Given the description of an element on the screen output the (x, y) to click on. 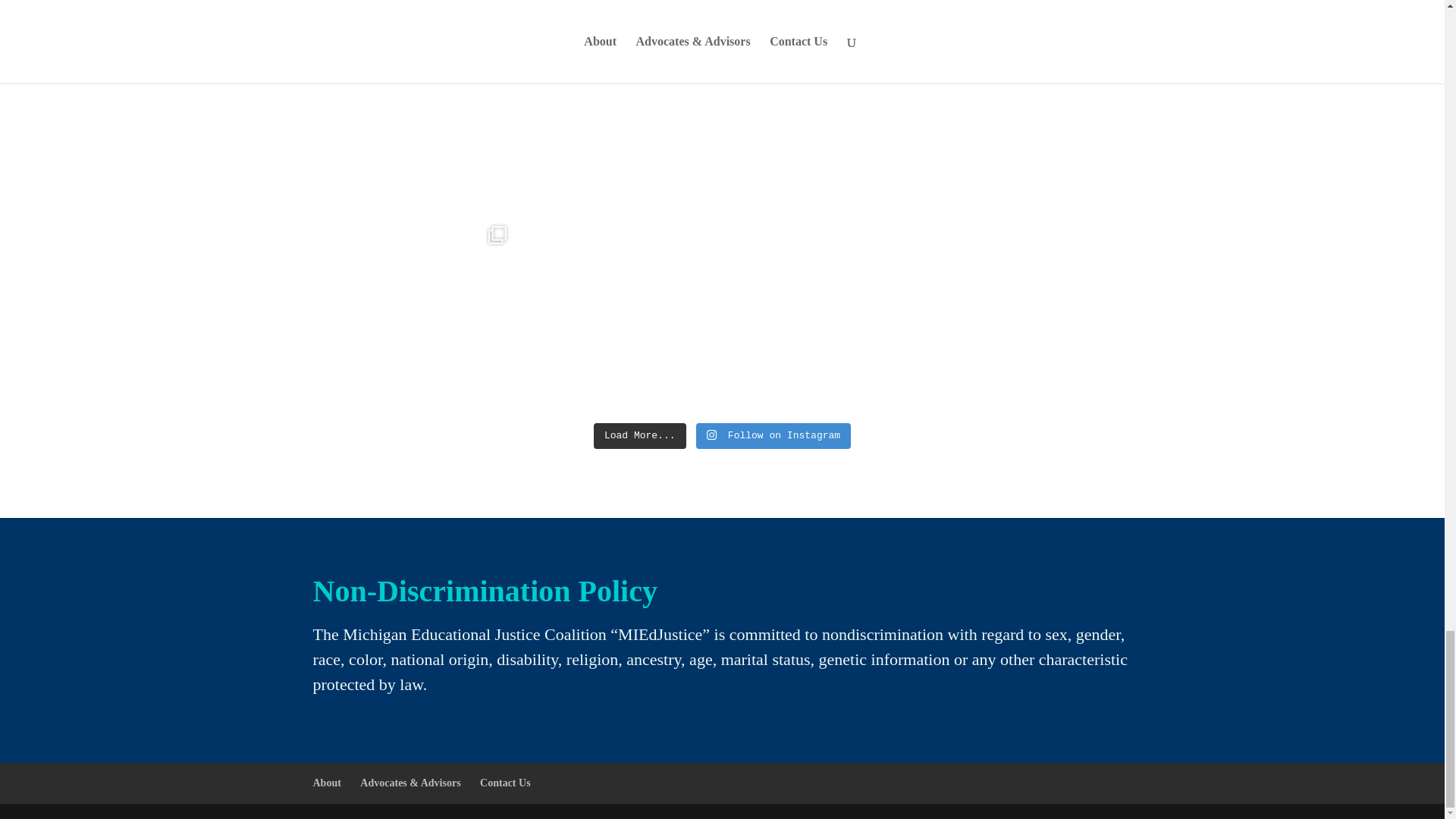
About (326, 782)
Follow on Instagram (772, 435)
Load More... (639, 435)
